Given the description of an element on the screen output the (x, y) to click on. 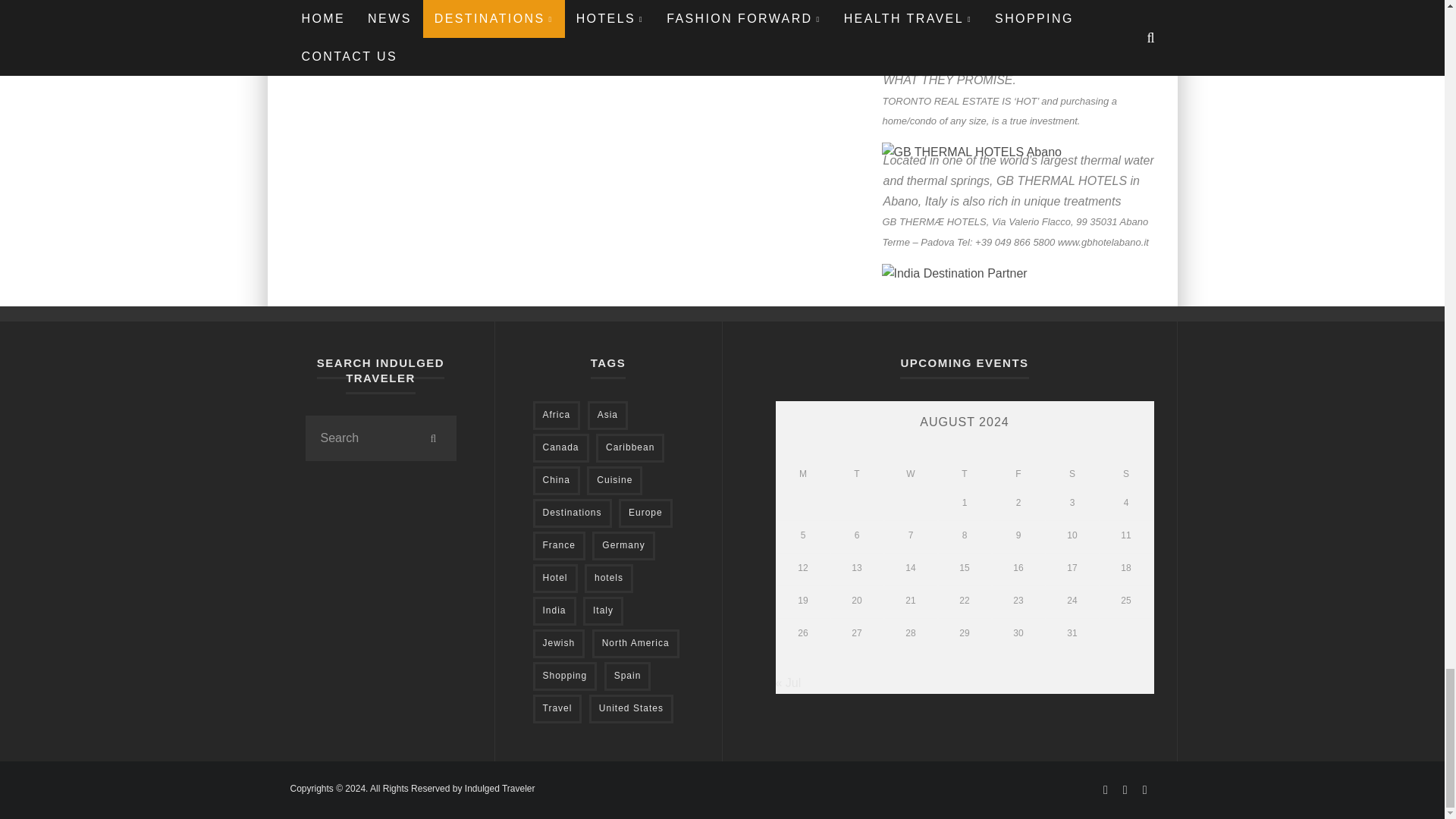
Saturday (1072, 474)
Thursday (965, 474)
Wednesday (909, 474)
Tuesday (857, 474)
Friday (1017, 474)
Sunday (1125, 474)
Monday (802, 474)
